Given the description of an element on the screen output the (x, y) to click on. 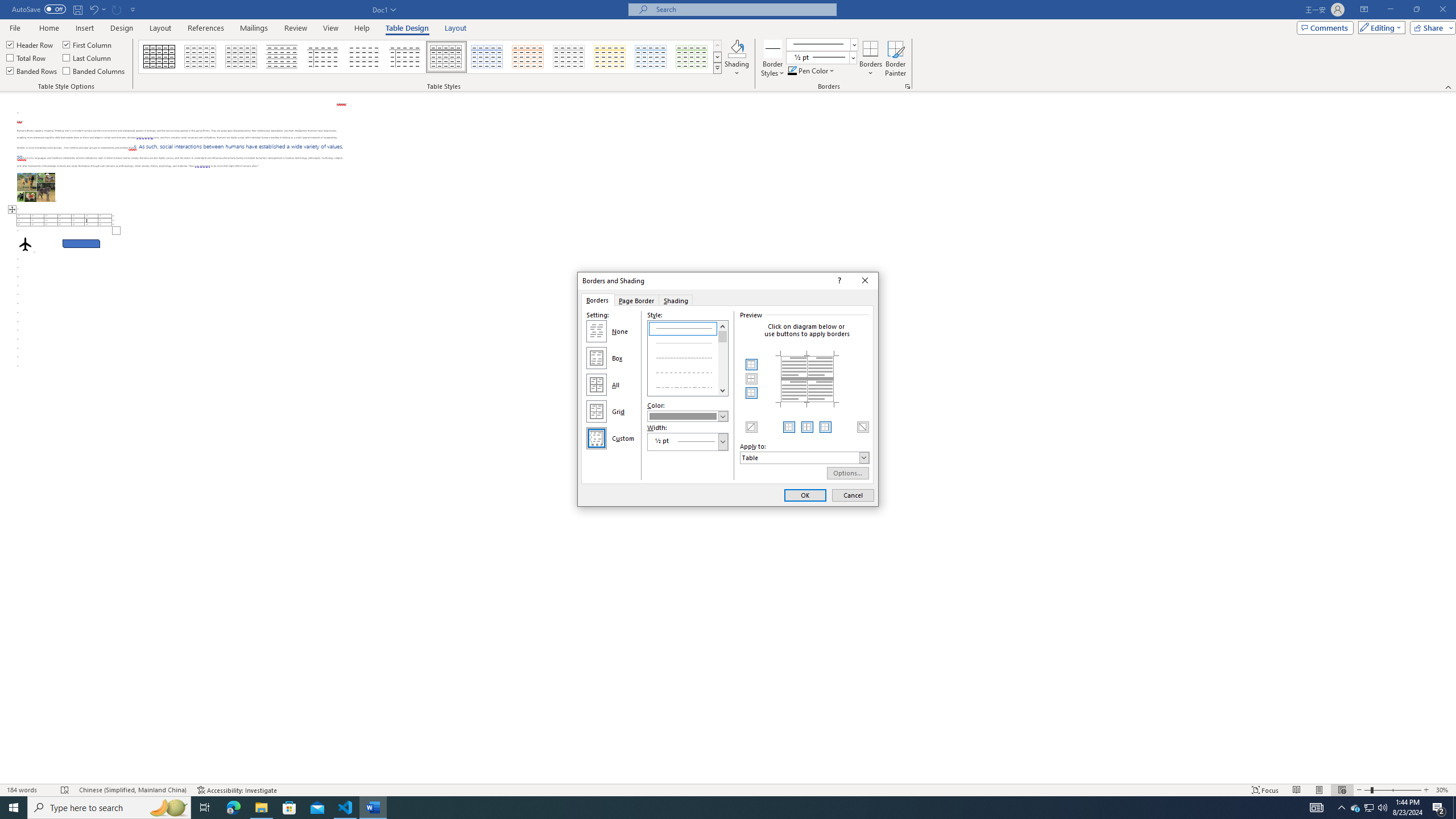
Notification Chevron (1355, 807)
Grid Table 1 Light (1341, 807)
Design (446, 56)
Border Painter (122, 28)
More Options (895, 58)
Pen Color RGB(0, 0, 0) (870, 68)
Cancel (791, 69)
Custom (853, 495)
Grid Table 1 Light - Accent 2 (596, 438)
Rectangle: Diagonal Corners Snipped 2 (528, 56)
Total Row (81, 243)
Inside Vertical Border (26, 56)
